Given the description of an element on the screen output the (x, y) to click on. 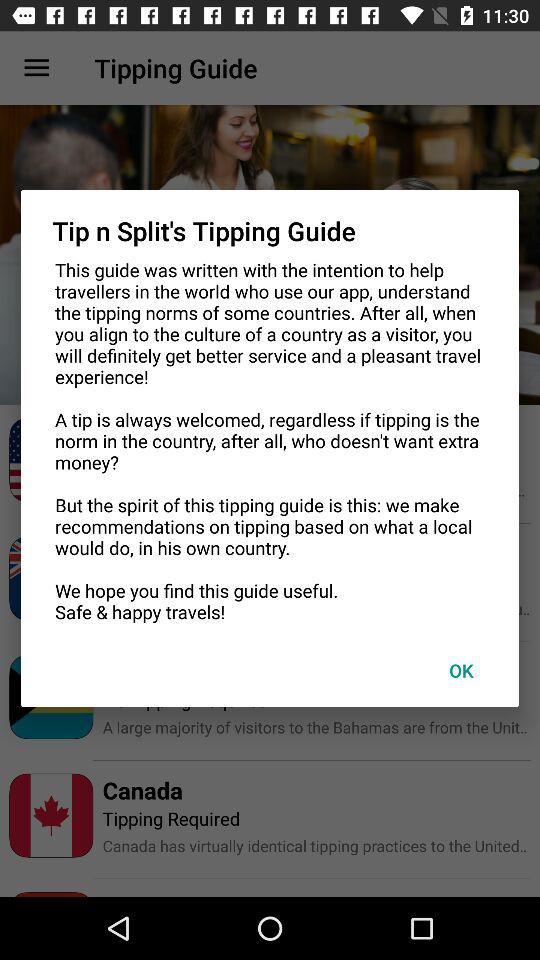
flip to ok icon (461, 669)
